Given the description of an element on the screen output the (x, y) to click on. 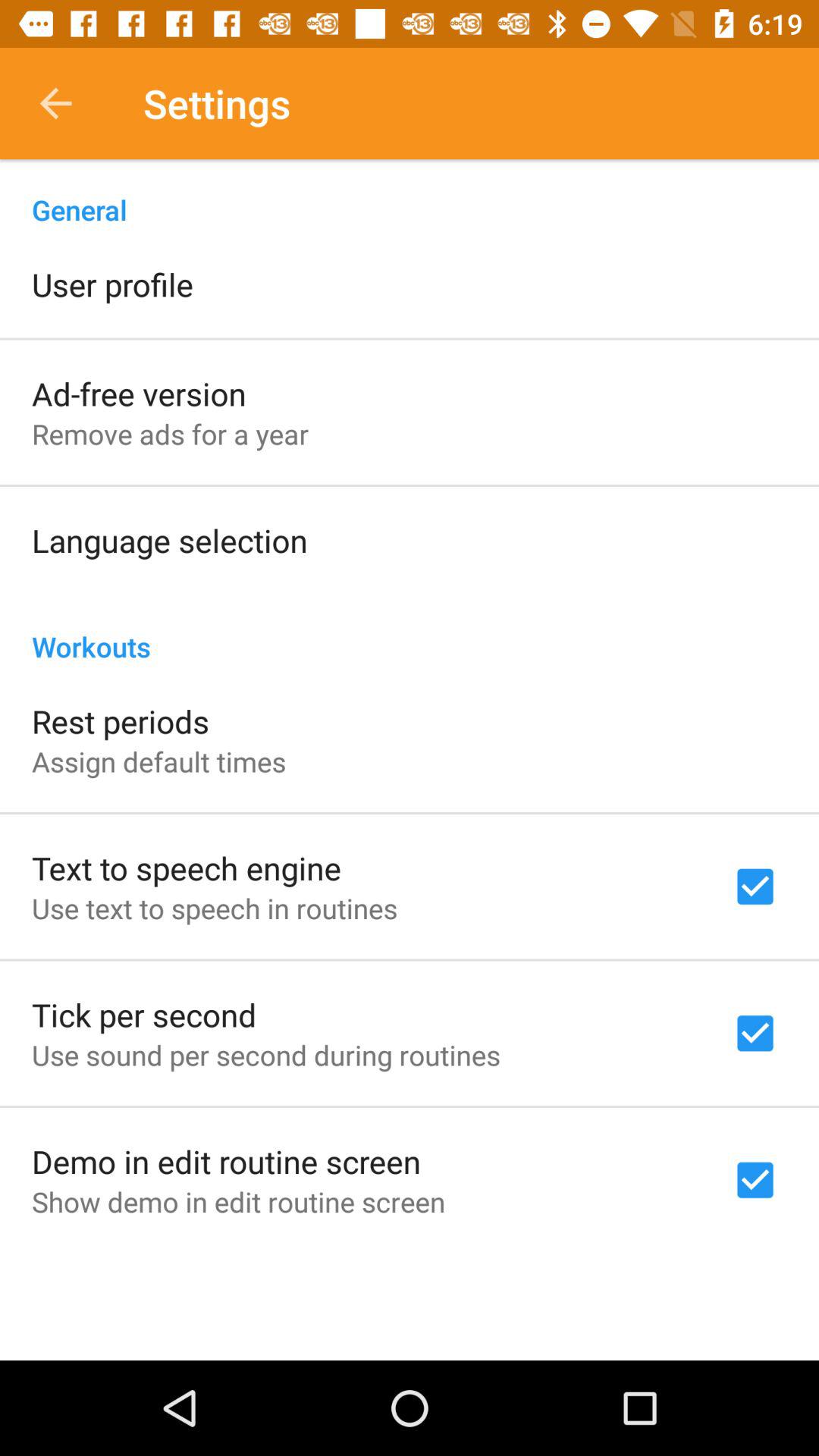
tap icon below the remove ads for icon (169, 539)
